Given the description of an element on the screen output the (x, y) to click on. 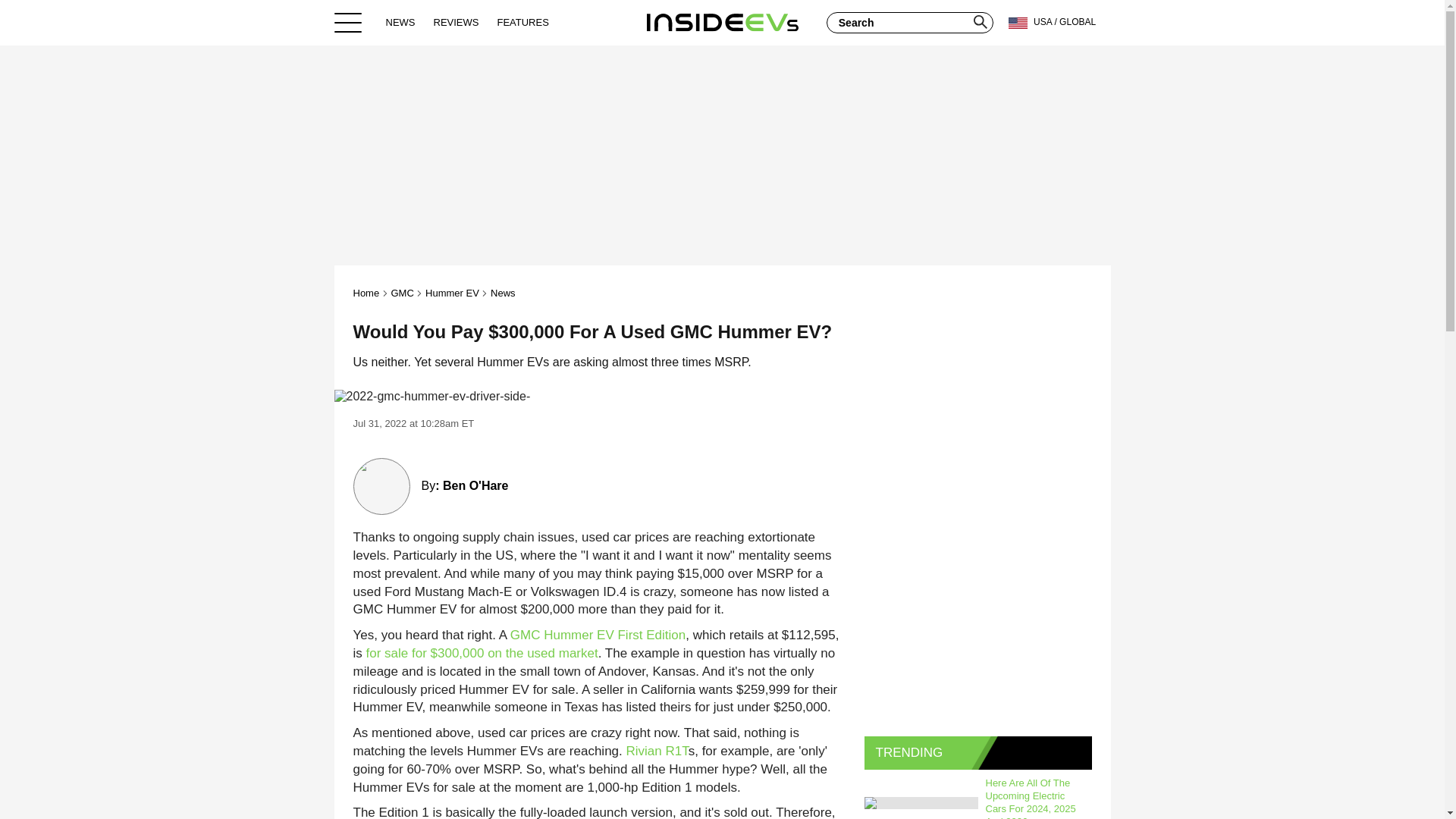
Ben O'Hare (475, 485)
GMC Hummer EV First Edition (598, 635)
Rivian R1T (657, 750)
Home (366, 293)
NEWS (399, 22)
REVIEWS (456, 22)
Hummer EV (452, 292)
FEATURES (522, 22)
GMC (401, 292)
News (502, 292)
Home (721, 22)
